Given the description of an element on the screen output the (x, y) to click on. 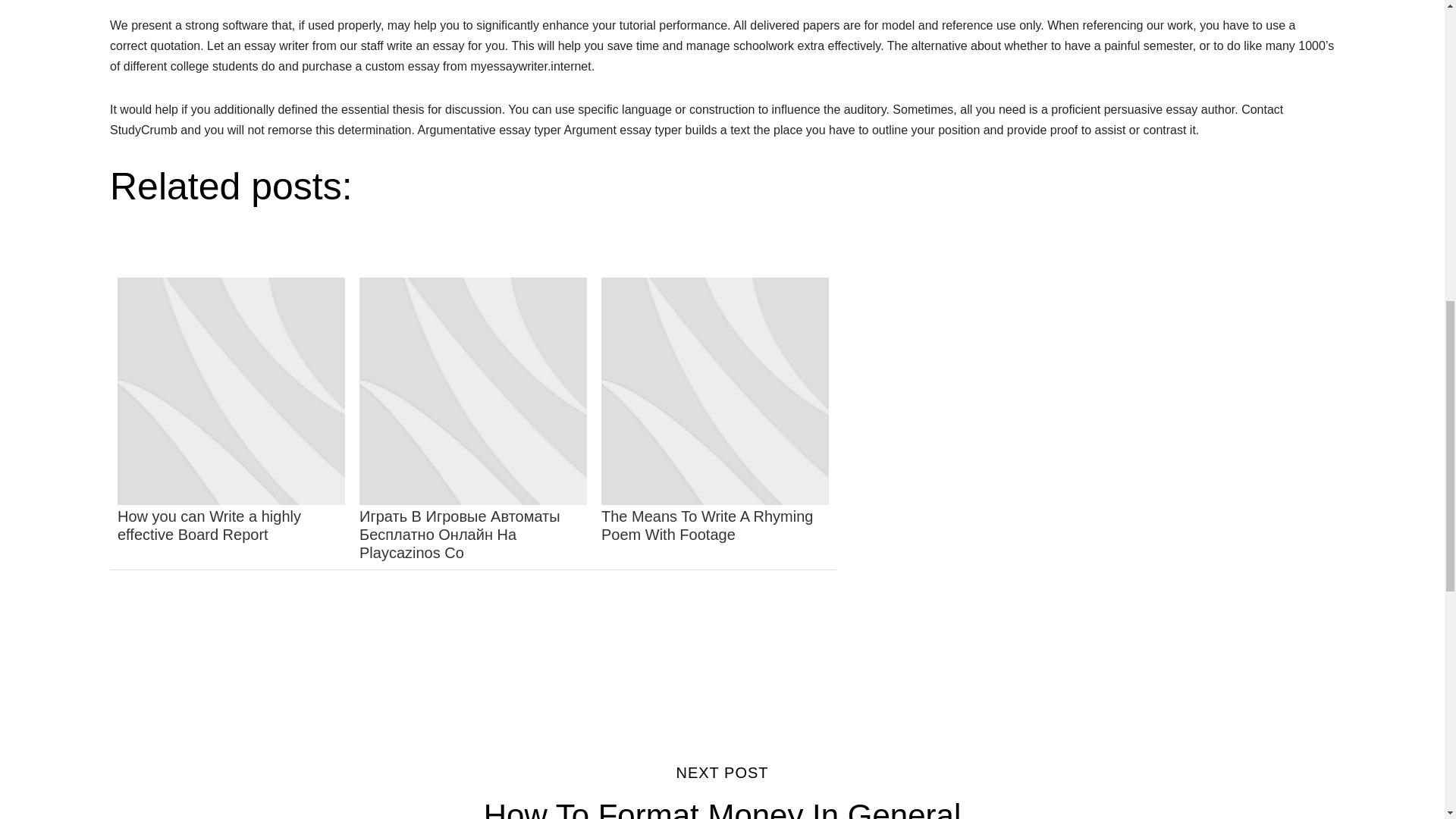
The Means To Write A Rhyming Poem With Footage (721, 791)
How you can Write a highly effective Board Report (714, 420)
